Given the description of an element on the screen output the (x, y) to click on. 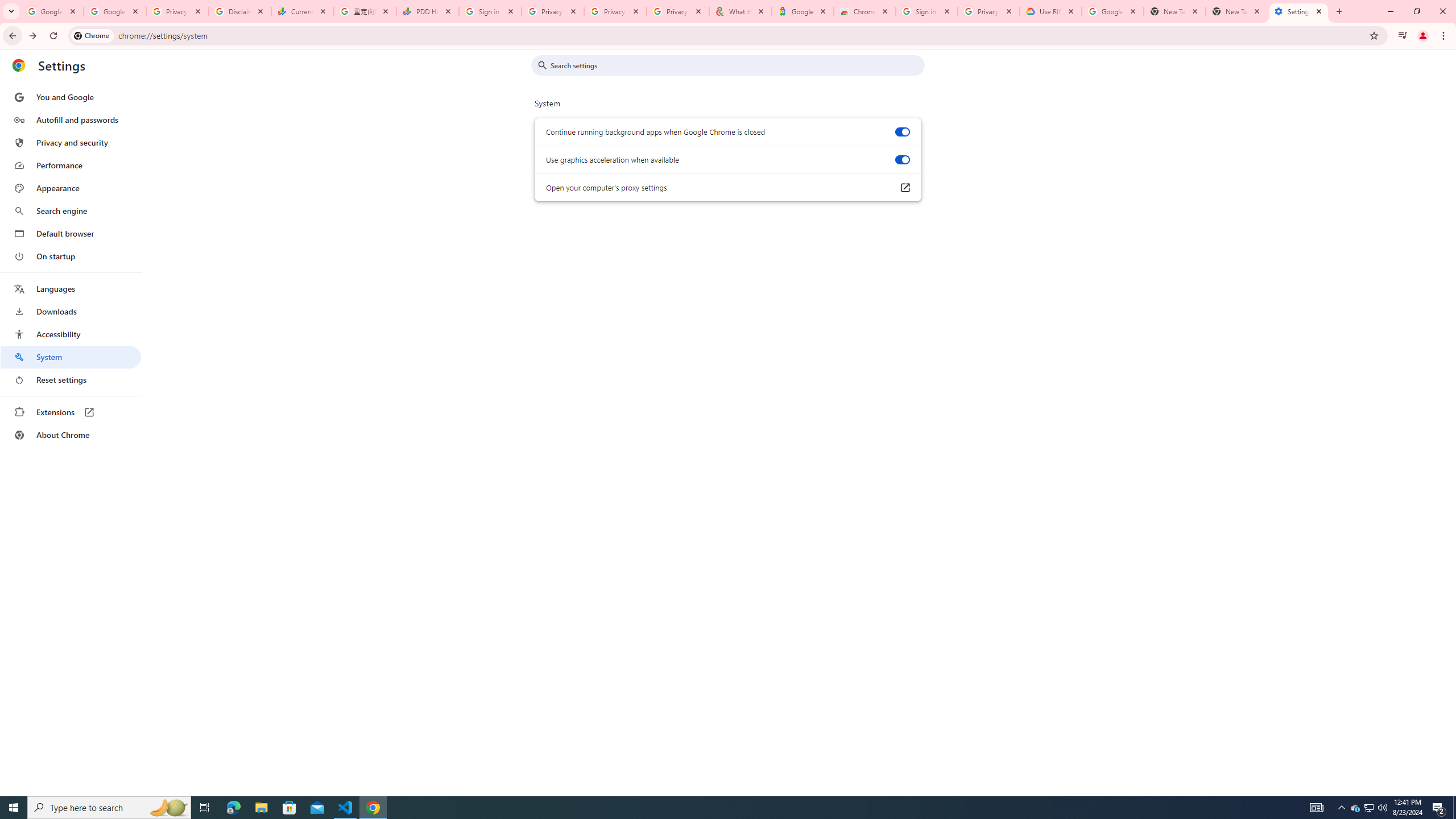
On startup (70, 255)
Performance (70, 164)
Extensions (70, 412)
Downloads (70, 311)
You and Google (70, 96)
Privacy and security (70, 142)
AutomationID: menu (71, 265)
Search settings (735, 65)
